Given the description of an element on the screen output the (x, y) to click on. 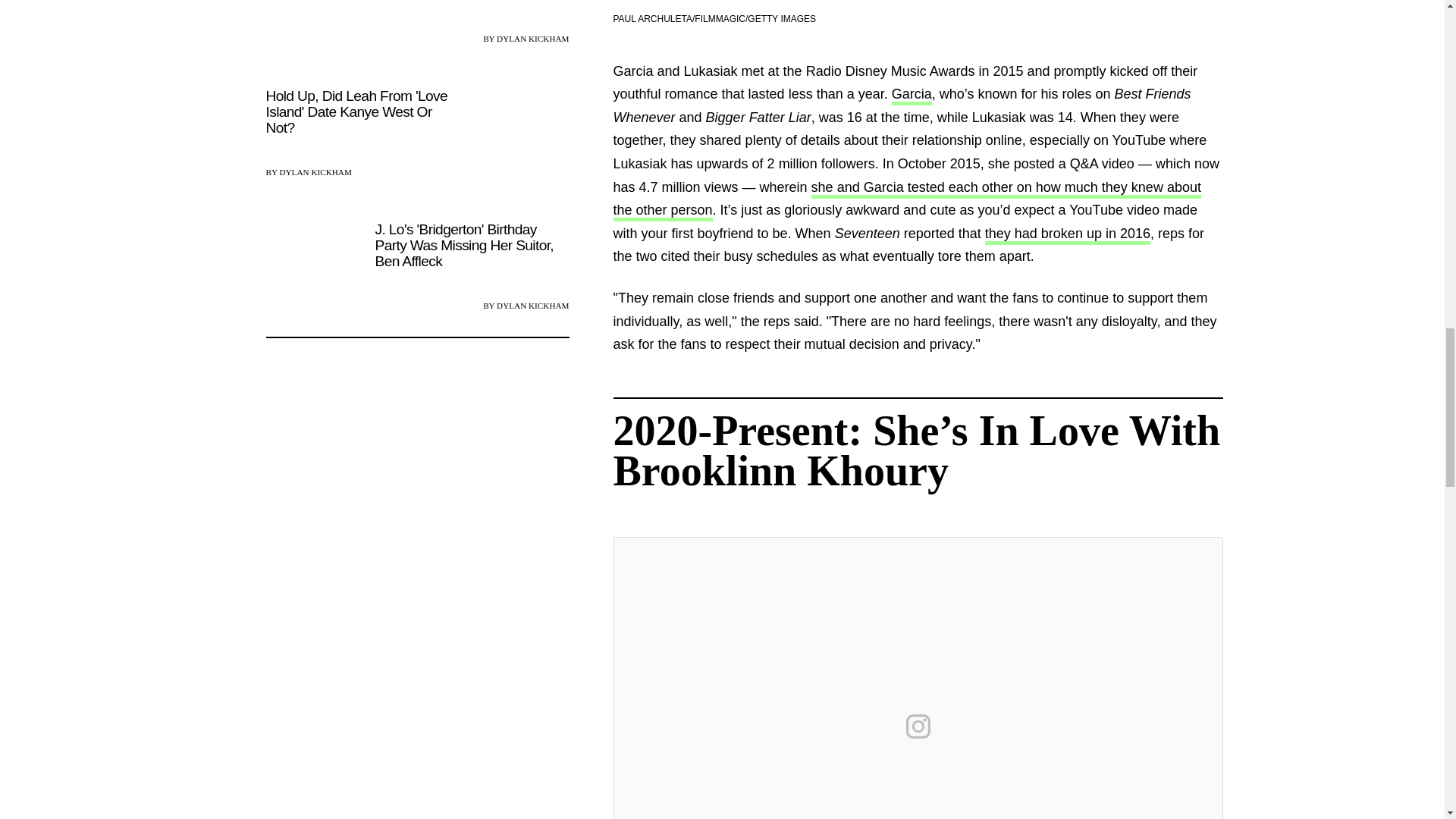
Garcia (911, 95)
View on Instagram (917, 726)
they had broken up in 2016 (1067, 235)
